Given the description of an element on the screen output the (x, y) to click on. 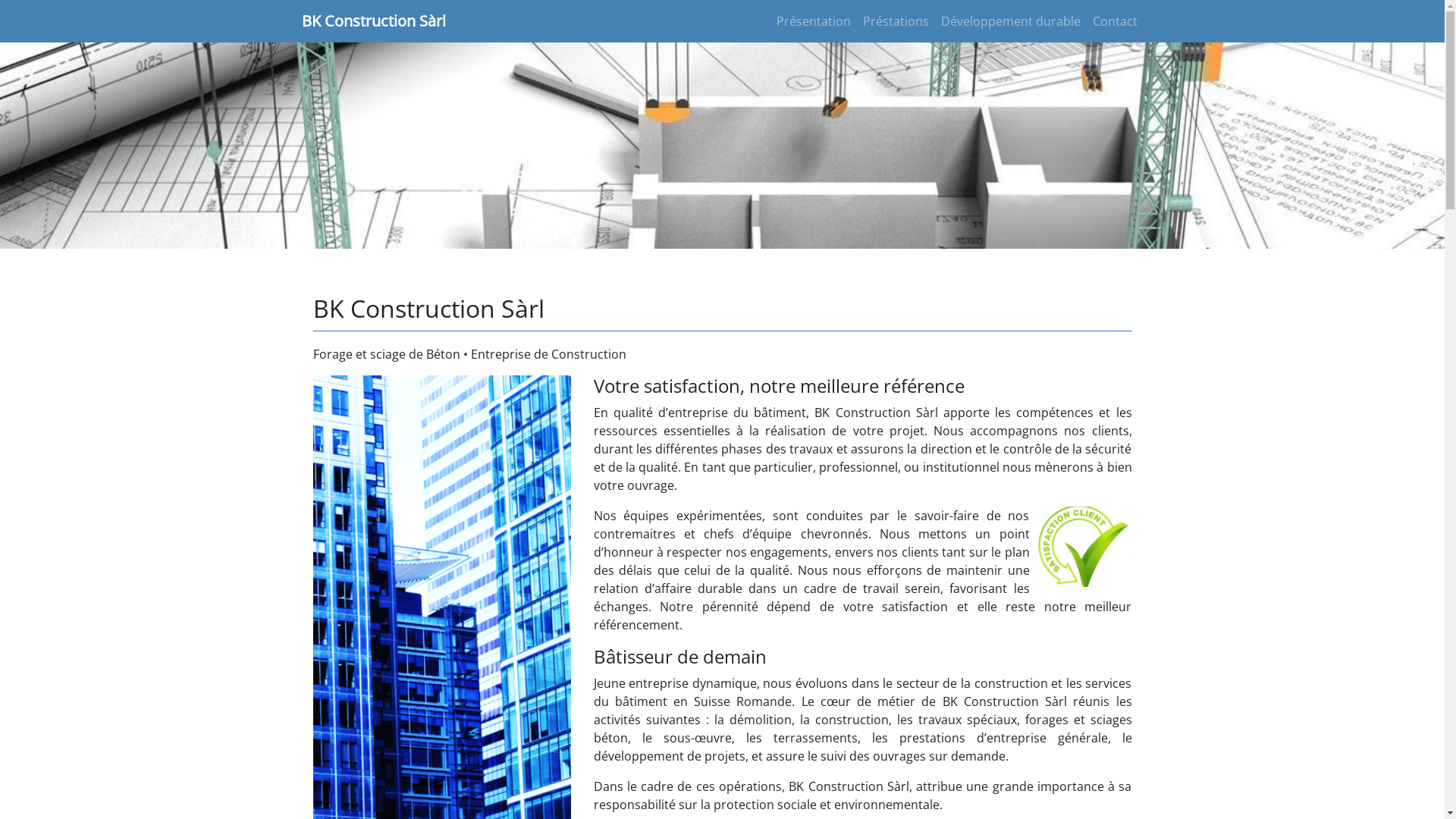
Contact Element type: text (1113, 21)
